Given the description of an element on the screen output the (x, y) to click on. 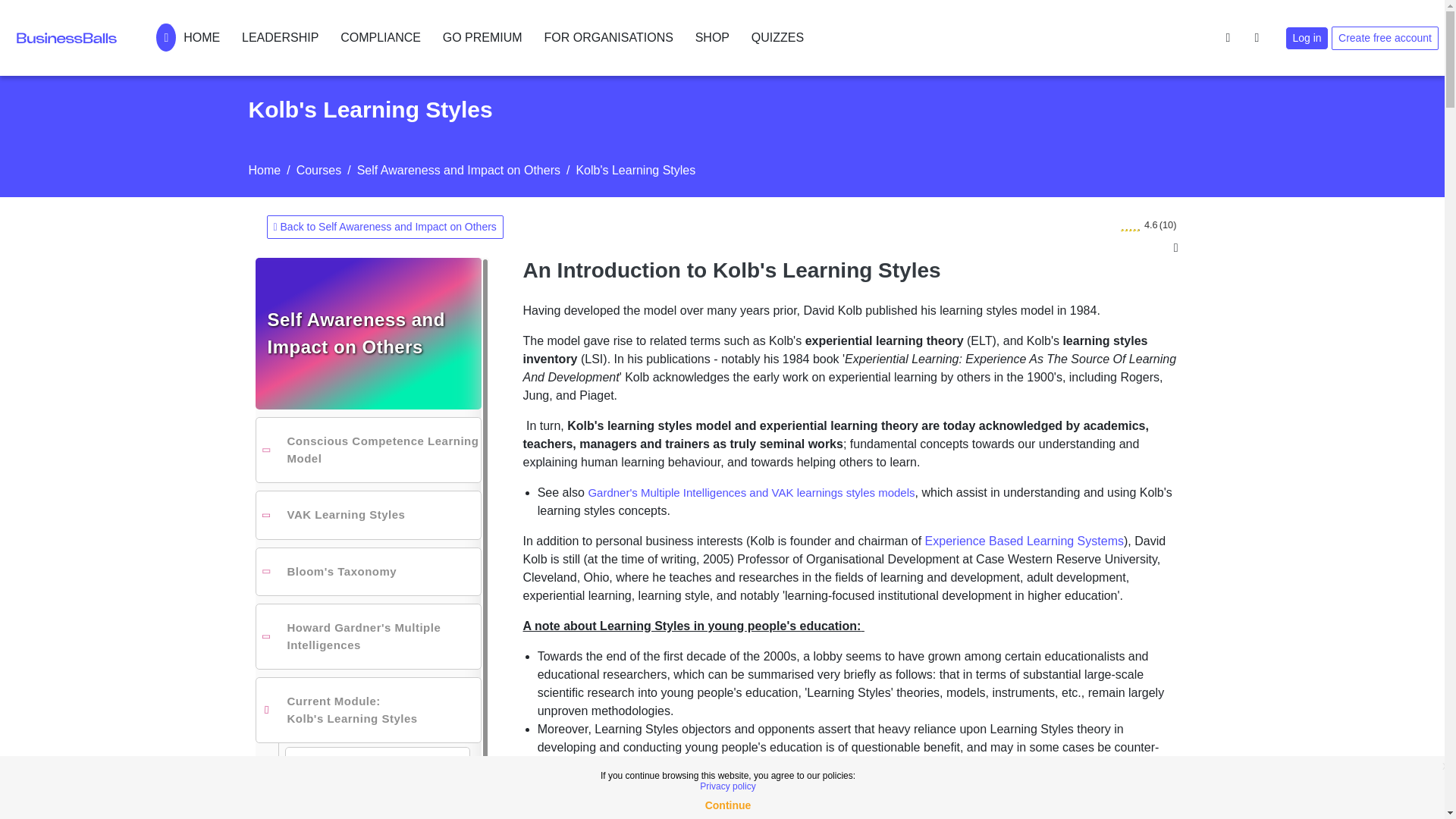
An Introduction to Kolb's Learning Styles (376, 774)
Howard Gardner's Multiple Intelligences (375, 636)
Bloom's Taxonomy (367, 572)
HOME (187, 37)
Conscious Competence Learning Model (375, 449)
An Introduction to Kolb's Learning Styles (376, 774)
VAK Learning Styles (337, 515)
Current Module: (333, 700)
LEADERSHIP (279, 37)
ELT Model (376, 814)
Conscious Competence Learning Model (367, 449)
ELT Model (376, 812)
An Introduction to Kolb's Learning Styles (367, 774)
Howard Gardner's Multiple Intelligences (367, 709)
